Given the description of an element on the screen output the (x, y) to click on. 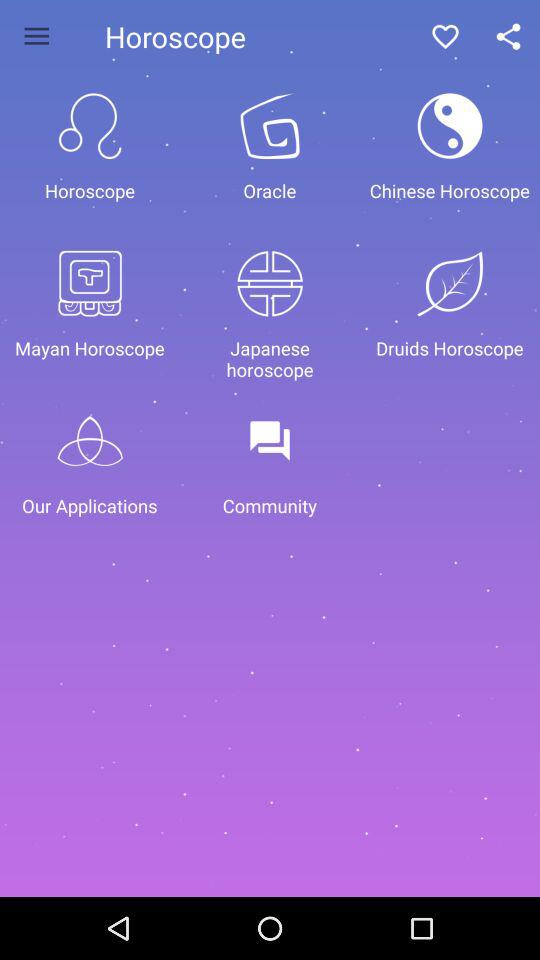
click icon next to horoscope item (36, 36)
